Given the description of an element on the screen output the (x, y) to click on. 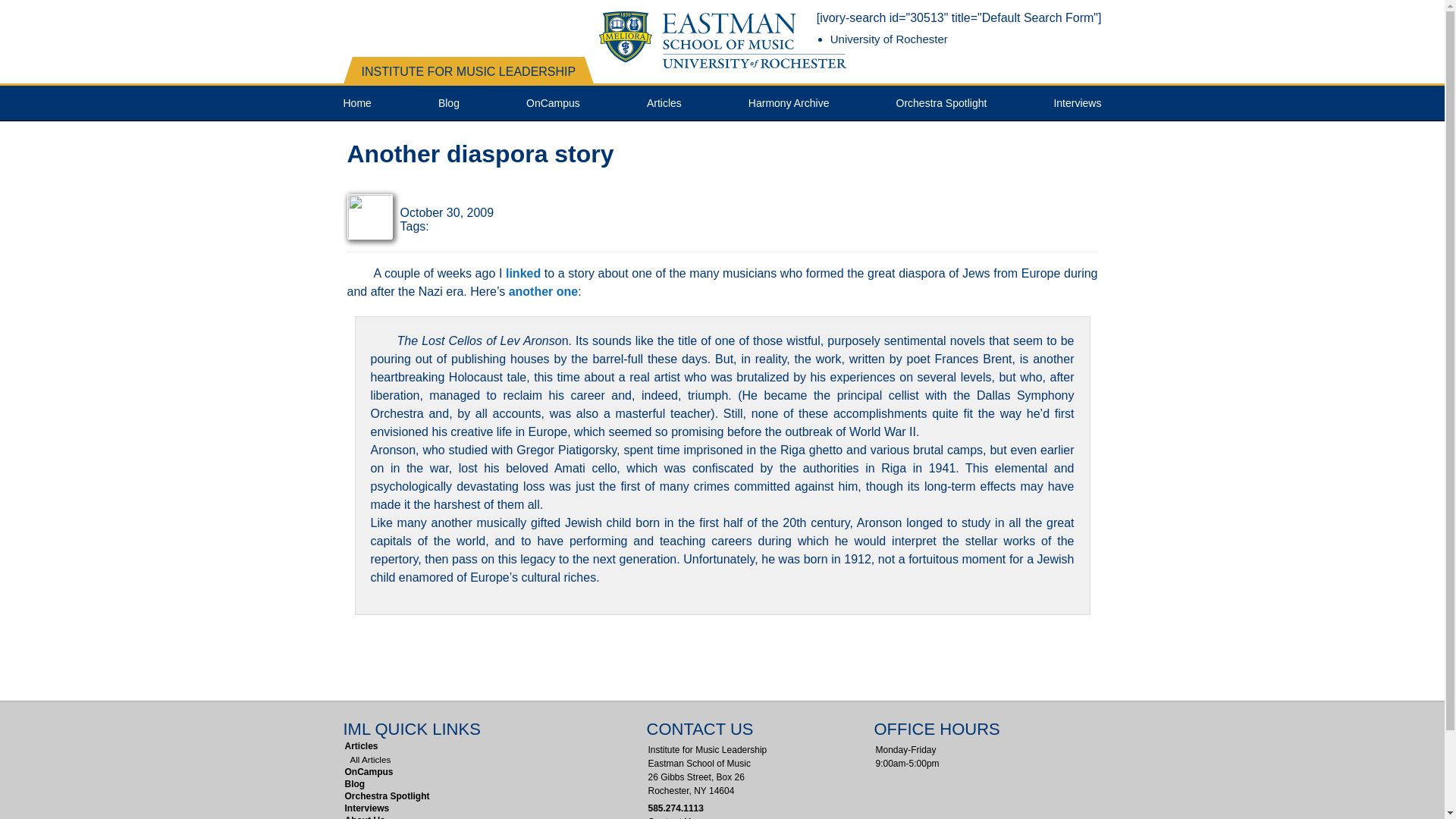
University of Rochester (888, 38)
